Given the description of an element on the screen output the (x, y) to click on. 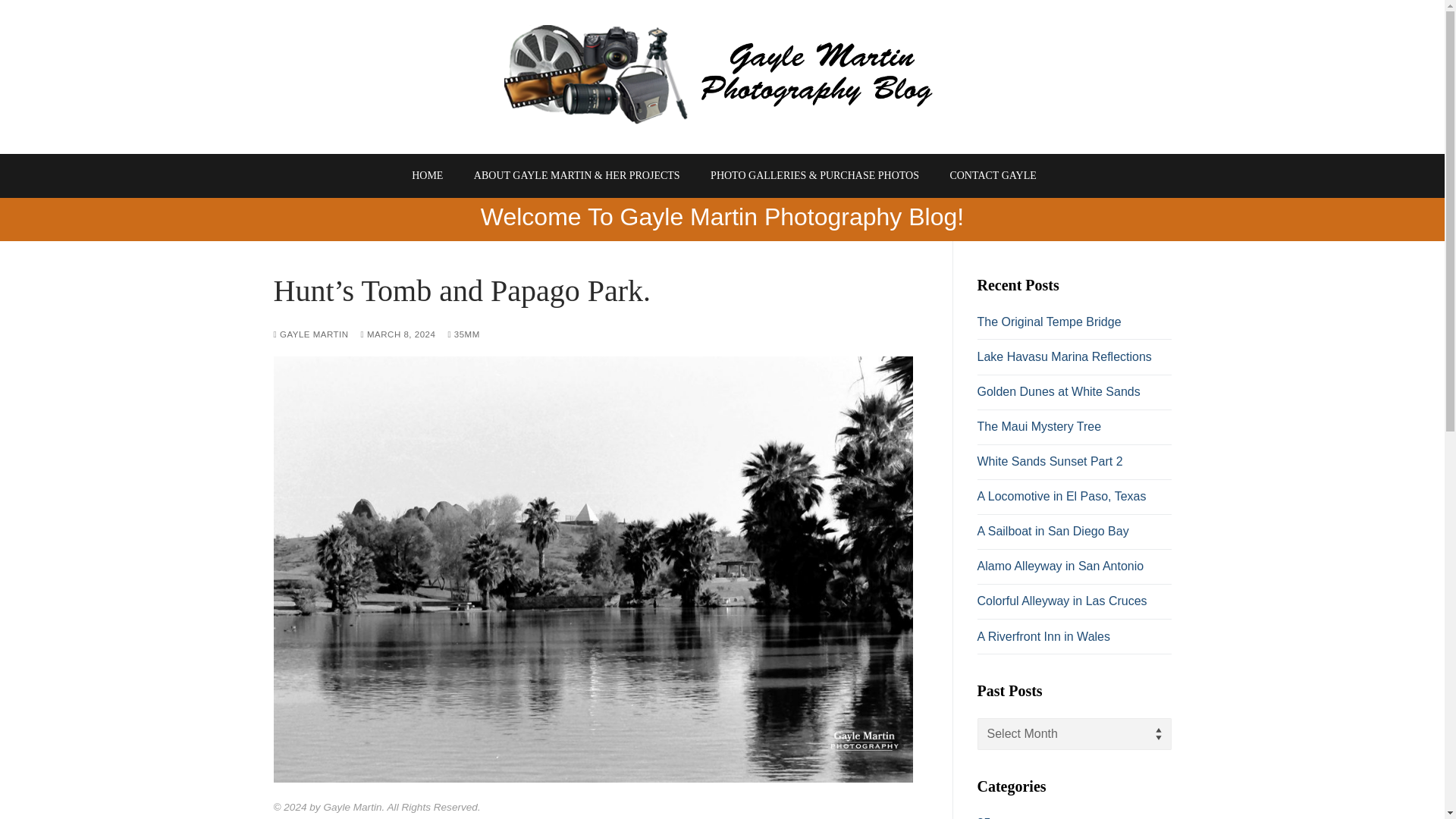
White Sands Sunset Part 2 (1073, 465)
GAYLE MARTIN (310, 334)
A Riverfront Inn in Wales (1073, 640)
Golden Dunes at White Sands (1073, 395)
CONTACT GAYLE (992, 175)
A Locomotive in El Paso, Texas (1073, 500)
The Maui Mystery Tree (1073, 430)
A Sailboat in San Diego Bay (1073, 534)
HOME (426, 175)
35MM (462, 334)
Lake Havasu Marina Reflections (1073, 360)
Alamo Alleyway in San Antonio (1073, 569)
MARCH 8, 2024 (398, 334)
Colorful Alleyway in Las Cruces (1073, 605)
